Given the description of an element on the screen output the (x, y) to click on. 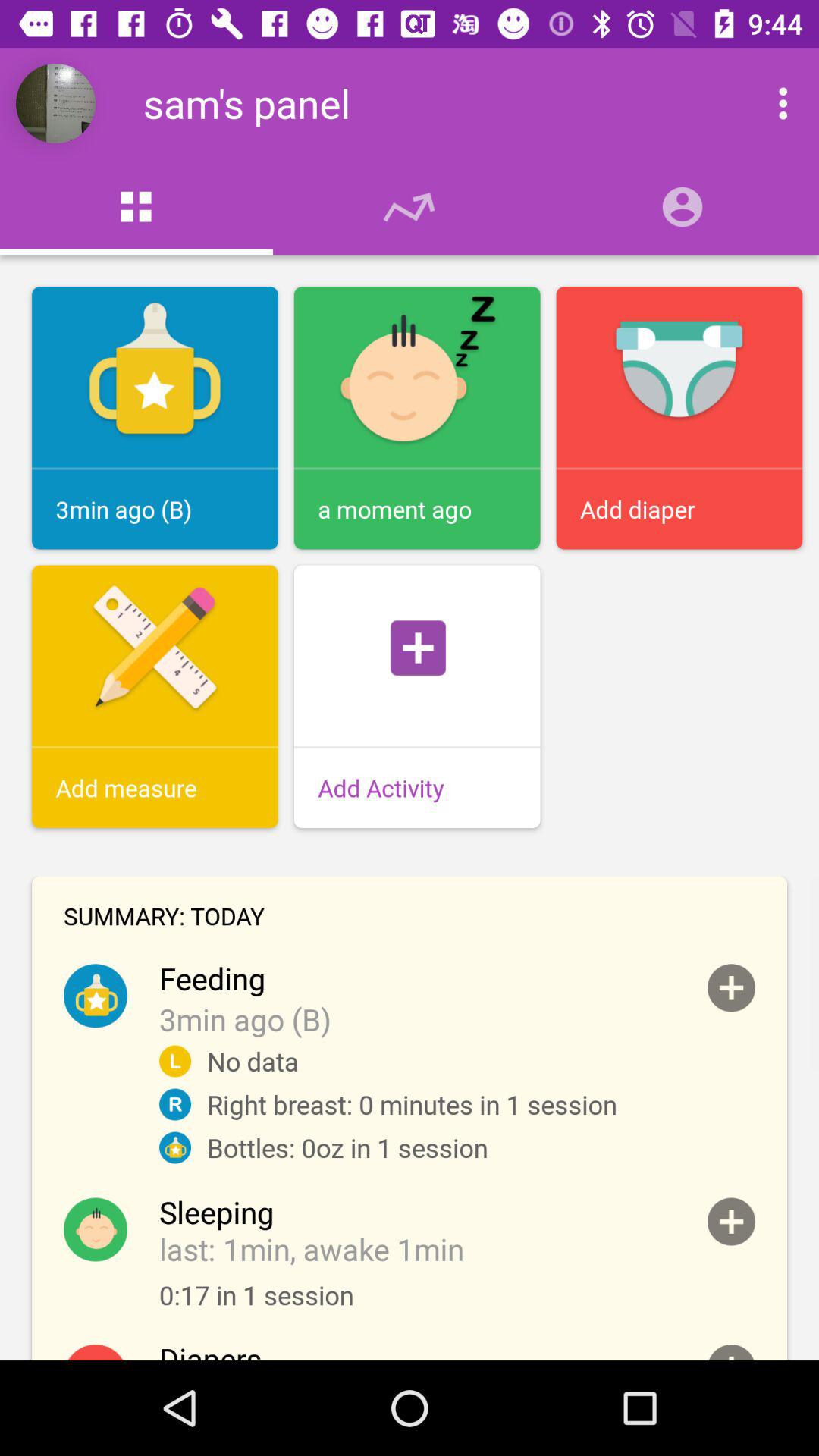
see details (731, 1352)
